Given the description of an element on the screen output the (x, y) to click on. 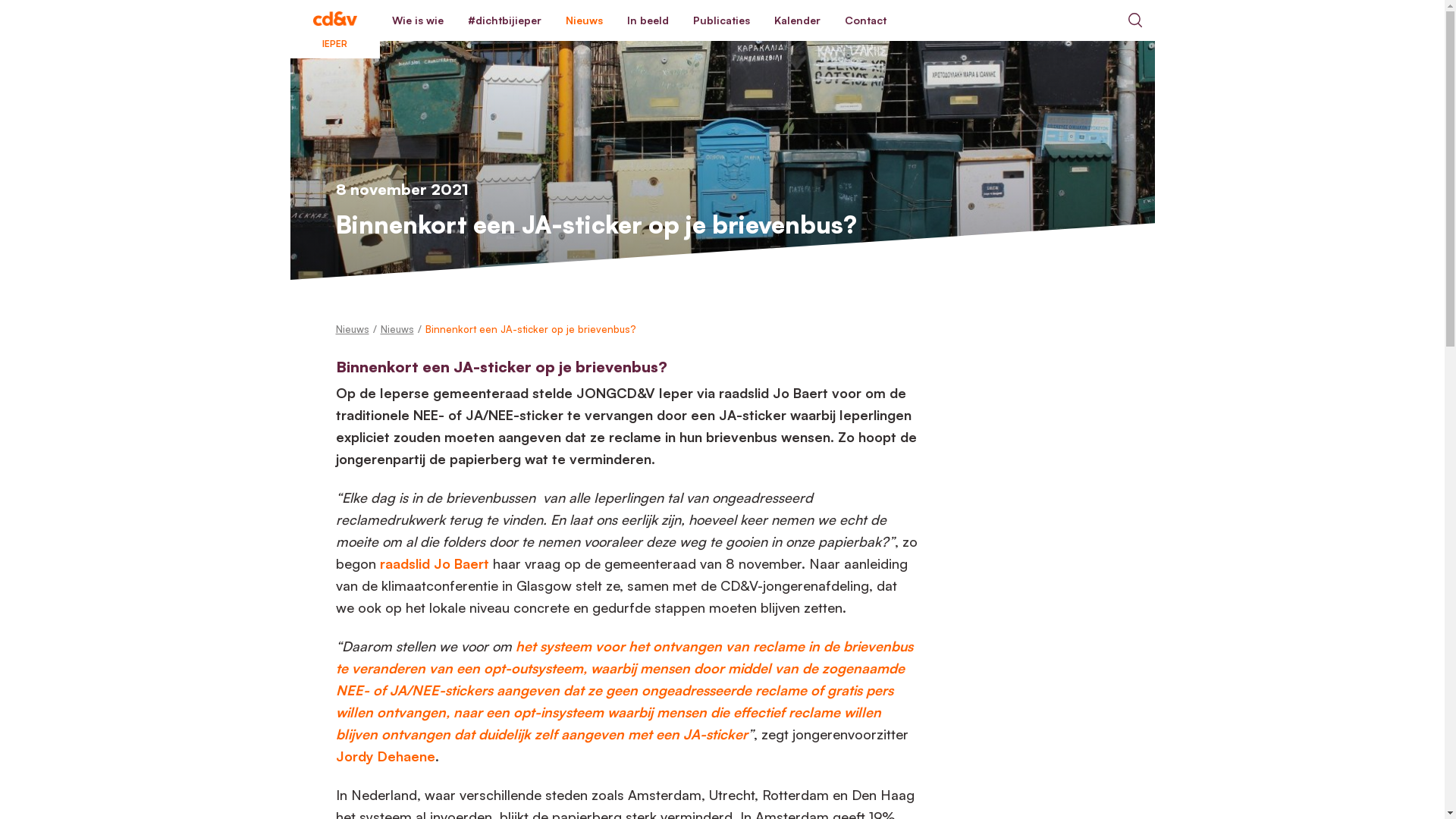
Wie is wie Element type: text (417, 20)
Search Element type: hover (1134, 19)
In beeld Element type: text (647, 20)
Kalender Element type: text (796, 20)
#dichtbijieper Element type: text (503, 20)
IEPER Element type: text (334, 19)
Contact Element type: text (865, 20)
Nieuws Element type: text (351, 329)
Nieuws Element type: text (397, 329)
Nieuws Element type: text (584, 20)
Publicaties Element type: text (721, 20)
